Given the description of an element on the screen output the (x, y) to click on. 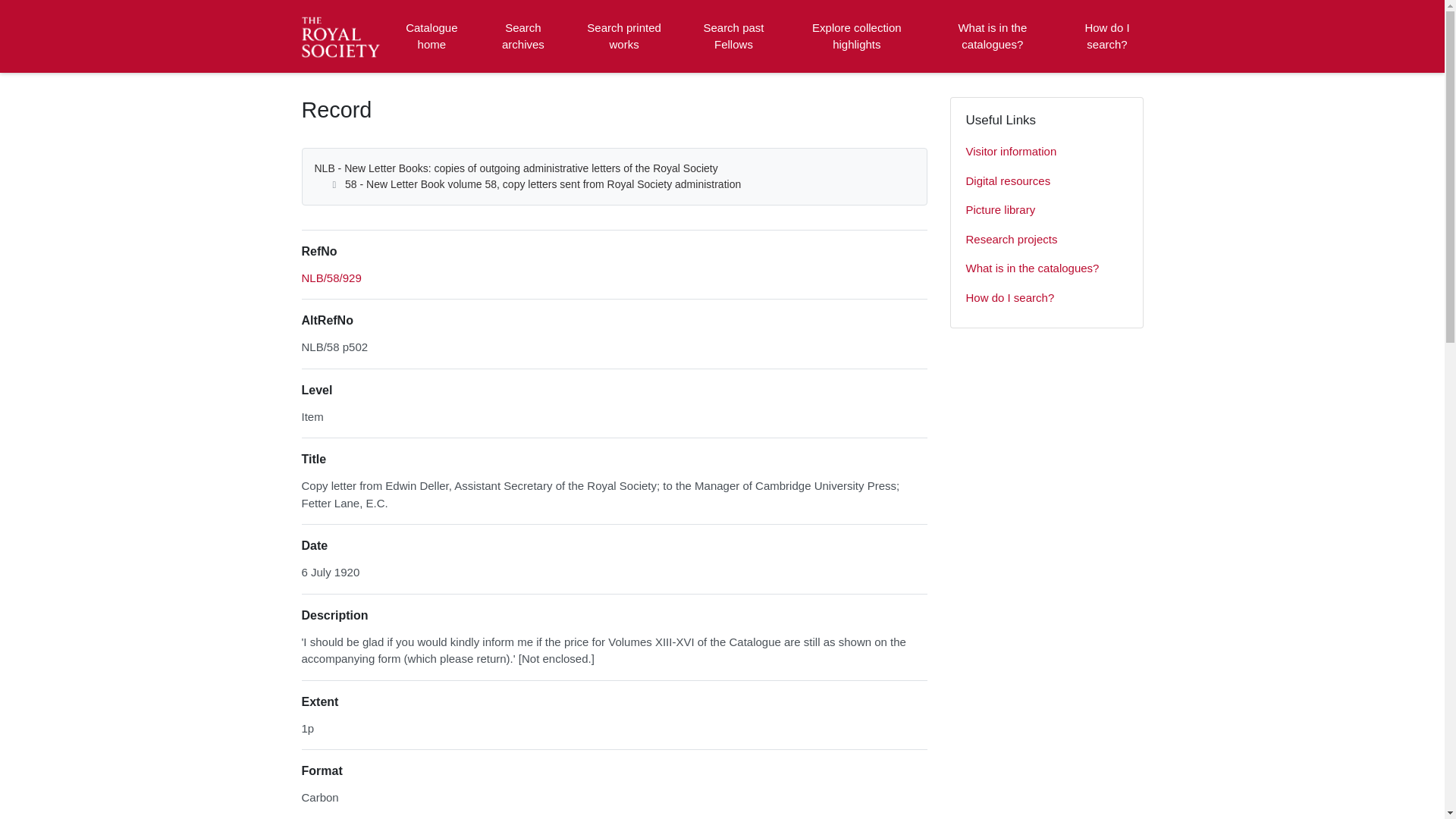
Browse record in hierarchy. (331, 277)
Search archives (522, 36)
Research projects (1046, 239)
Search printed works (624, 36)
Explore collection highlights (856, 36)
Digital resources (1046, 181)
Visitor information (1046, 152)
How do I search? (1046, 297)
What is in the catalogues? (1046, 268)
How do I search? (1106, 36)
Catalogue home (431, 36)
Picture library (1046, 210)
What is in the catalogues? (991, 36)
